Given the description of an element on the screen output the (x, y) to click on. 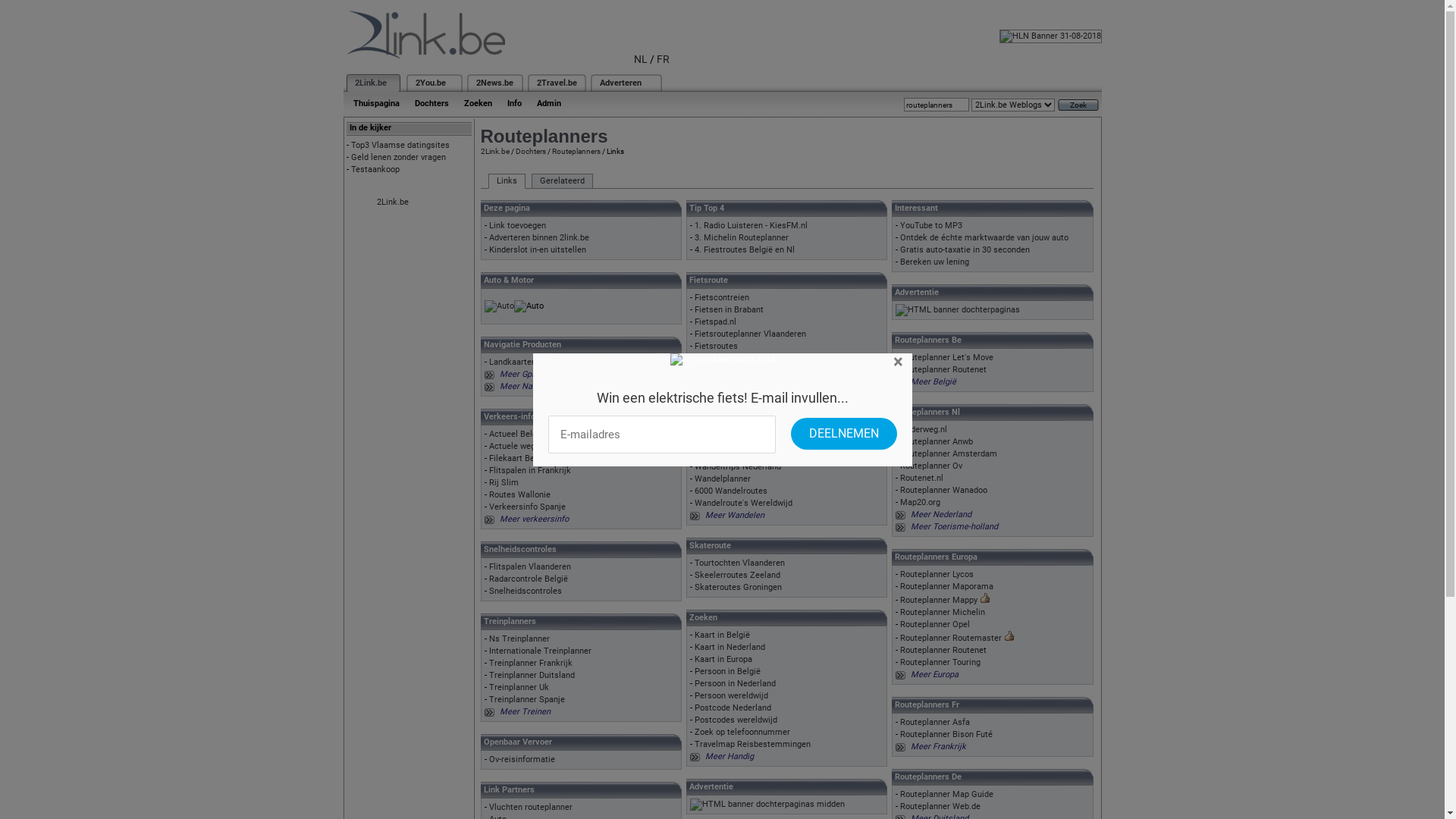
Persoon wereldwijd Element type: text (731, 695)
Onderweg.nl Element type: text (923, 429)
Skeelerroutes Zeeland Element type: text (737, 575)
2You.be Element type: text (430, 82)
Travelmap Reisbestemmingen Element type: text (752, 744)
Fietsroutes Element type: text (715, 346)
Ov-reisinformatie Element type: text (521, 759)
Fietsen in Brabant Element type: text (728, 309)
Routeplanner Opel Element type: text (934, 624)
Verkeersinfo Spanje Element type: text (526, 506)
Gerelateerd Element type: text (561, 180)
Routeplanner Lycos Element type: text (936, 574)
Meer verkeersinfo Element type: text (532, 519)
Routeplanner Ov Element type: text (931, 465)
Routeplanner Asfa Element type: text (934, 722)
Dochters Element type: text (530, 151)
2Travel.be Element type: text (556, 82)
Meer Europa Element type: text (934, 674)
Actuele wegeninfo Element type: text (523, 446)
Meer Gps Element type: text (516, 374)
Top3 Vlaamse datingsites Element type: text (399, 145)
Routeplanners Element type: text (576, 151)
Treinplanner Uk Element type: text (518, 687)
Fietsrouteplanner Vlaanderen Element type: text (750, 333)
Admin Element type: text (548, 103)
Meer Handig Element type: text (729, 756)
Meer Fietsen Element type: text (730, 394)
Routeplanner Routenet Element type: text (943, 650)
Routeplanner Amsterdam Element type: text (948, 453)
Fietstrips Nederland Element type: text (732, 382)
Skateroutes Groningen Element type: text (737, 587)
Meer Treinen Element type: text (523, 711)
Routes Wallonie Element type: text (518, 494)
Kinderslot in-en uitstellen Element type: text (536, 249)
1. Radio Luisteren - KiesFM.nl Element type: text (750, 225)
Links Element type: text (506, 180)
Dochters Element type: text (430, 103)
Bereken uw lening Element type: text (934, 261)
Postcode Nederland Element type: text (732, 707)
Routeplanner Wanadoo Element type: text (943, 490)
Meer Toerisme-holland Element type: text (953, 526)
Routenet.nl Element type: text (921, 478)
Treinplanner Duitsland Element type: text (531, 675)
Flitspalen in Frankrijk Element type: text (529, 470)
Tourtochten Vlaanderen Element type: text (739, 562)
Map20.org Element type: text (920, 502)
Kaart in Nederland Element type: text (729, 647)
Gratis auto-taxatie in 30 seconden Element type: text (964, 249)
Treinplanner Frankrijk Element type: text (529, 663)
Ns Treinplanner Element type: text (518, 638)
Postcodes wereldwijd Element type: text (735, 719)
Routeplanner Maporama Element type: text (946, 586)
2News.be Element type: text (494, 82)
Routeplanner Routemaster Element type: text (950, 638)
Zoek Element type: text (1077, 103)
Wandeltrips Nederland Element type: text (737, 466)
Fietsroutes Vlaanderen Element type: text (738, 370)
2Link.be Element type: text (494, 151)
Geld lenen zonder vragen Element type: text (397, 157)
Meer Wandelen Element type: text (734, 515)
Routeplanner Routenet Element type: text (943, 369)
Link toevoegen Element type: text (516, 225)
Wandelroute's Wereldwijd Element type: text (743, 503)
Meer Frankrijk Element type: text (938, 746)
Routeplanner Touring Element type: text (940, 662)
3. Michelin Routeplanner Element type: text (741, 237)
Rij Slim Element type: text (502, 482)
Routeplanner Map Guide Element type: text (946, 794)
Routeplanner Let's Move Element type: text (946, 357)
Wandelroutes Nederland Element type: text (740, 454)
FR Element type: text (662, 59)
Fietsroutes Belgie en Nl Element type: text (739, 358)
Thuispagina Element type: text (376, 103)
NL Element type: text (640, 59)
2Link.be Element type: text (370, 82)
Kaart in Europa Element type: text (723, 659)
Routeplanner Michelin Element type: text (942, 612)
Routeplanner Web.de Element type: text (940, 806)
Routeplanner Anwb Element type: text (936, 441)
Persoon in Nederland Element type: text (734, 683)
Adverteren Element type: text (619, 82)
6000 Wandelroutes Element type: text (730, 490)
Adverteren binnen 2link.be Element type: text (538, 237)
Vluchten routeplanner Element type: text (529, 807)
Internationale Treinplanner Element type: text (539, 650)
Meer Nederland Element type: text (940, 514)
Zoek op telefoonnummer Element type: text (742, 732)
2Link.be Element type: text (391, 202)
Wandelplanner Element type: text (722, 478)
Fietscontreien Element type: text (721, 297)
YouTube to MP3 Element type: text (931, 225)
Treinplanner Spanje Element type: text (526, 699)
Flitspalen Vlaanderen Element type: text (529, 566)
Info Element type: text (513, 103)
Fietspad.nl Element type: text (715, 321)
Testaankoop Element type: text (374, 169)
Routeplanner Mappy Element type: text (938, 600)
Landkaarten Element type: text (511, 362)
Zoeken Element type: text (477, 103)
Snelheidscontroles Element type: text (524, 591)
Meer Navigatie Element type: text (527, 386)
